Given the description of an element on the screen output the (x, y) to click on. 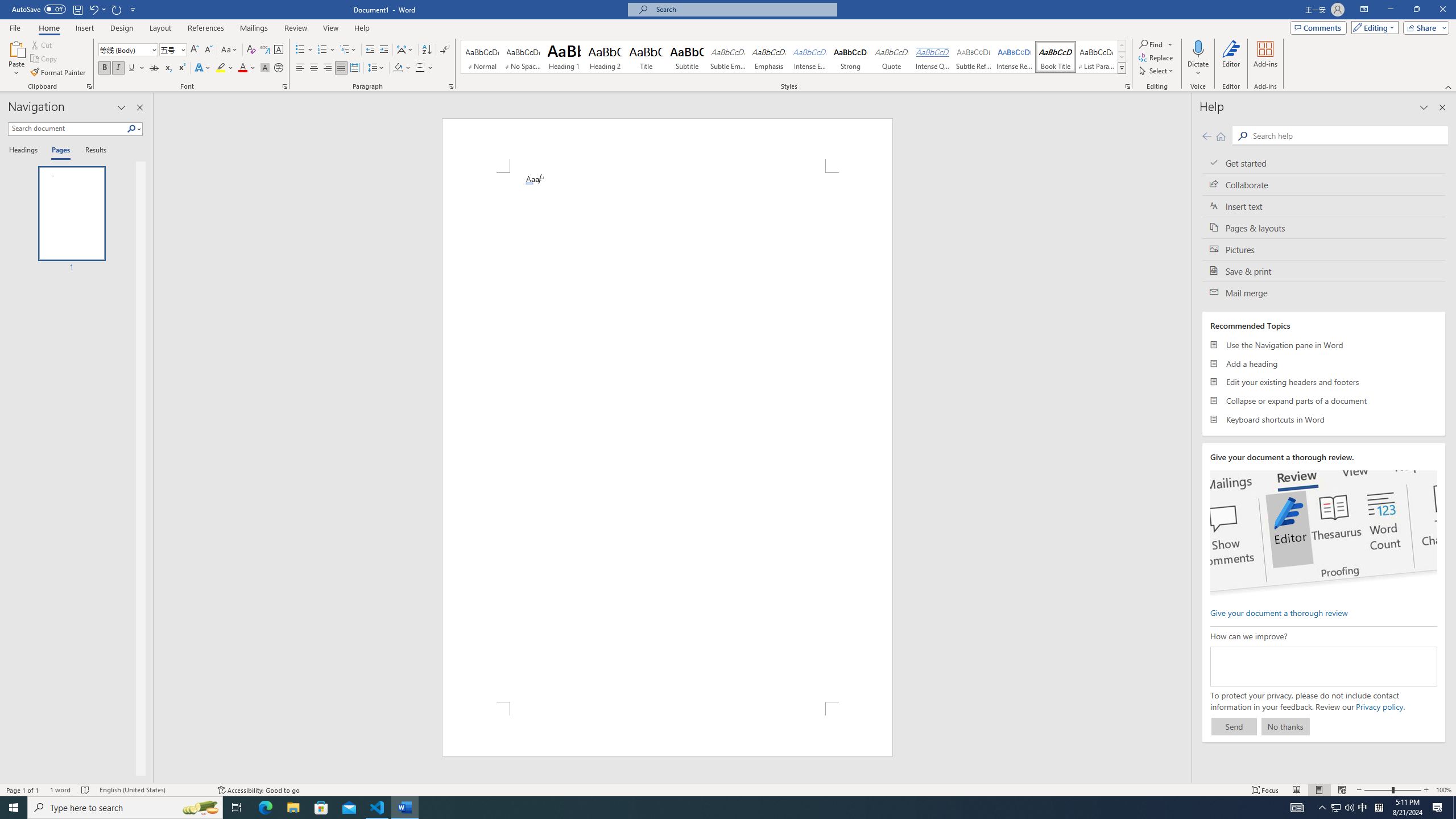
Heading 2 (605, 56)
Get started (1323, 162)
Page Number Page 1 of 1 (22, 790)
